Given the description of an element on the screen output the (x, y) to click on. 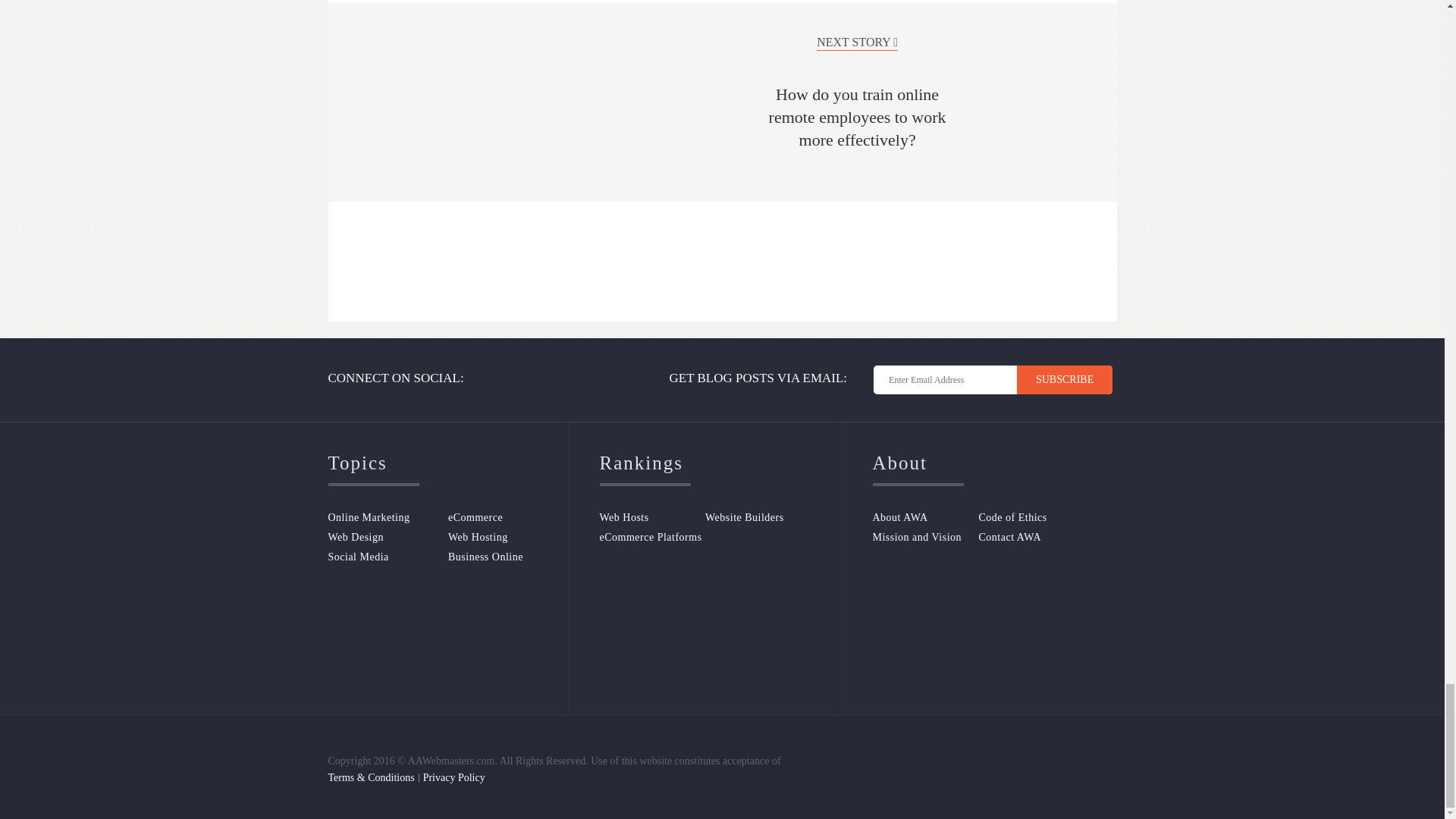
SUBSCRIBE (1064, 379)
Best Web Hosts (651, 517)
Best Website Builders (757, 517)
Best eCommerce Software (651, 536)
